Given the description of an element on the screen output the (x, y) to click on. 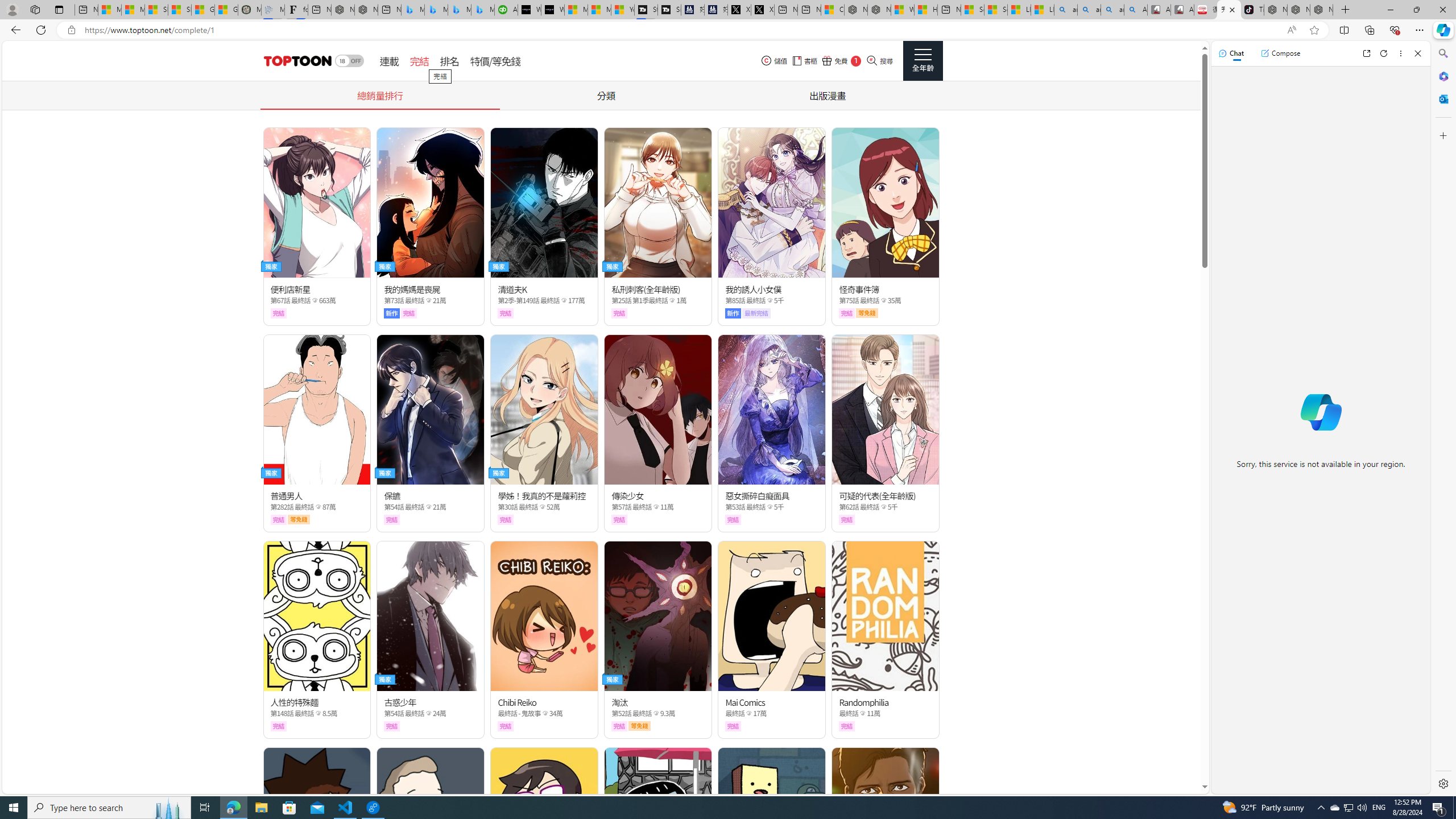
amazon - Search (1089, 9)
Microsoft Bing Travel - Stays in Bangkok, Bangkok, Thailand (435, 9)
Customize (1442, 135)
Chat (1231, 52)
Accounting Software for Accountants, CPAs and Bookkeepers (505, 9)
